Given the description of an element on the screen output the (x, y) to click on. 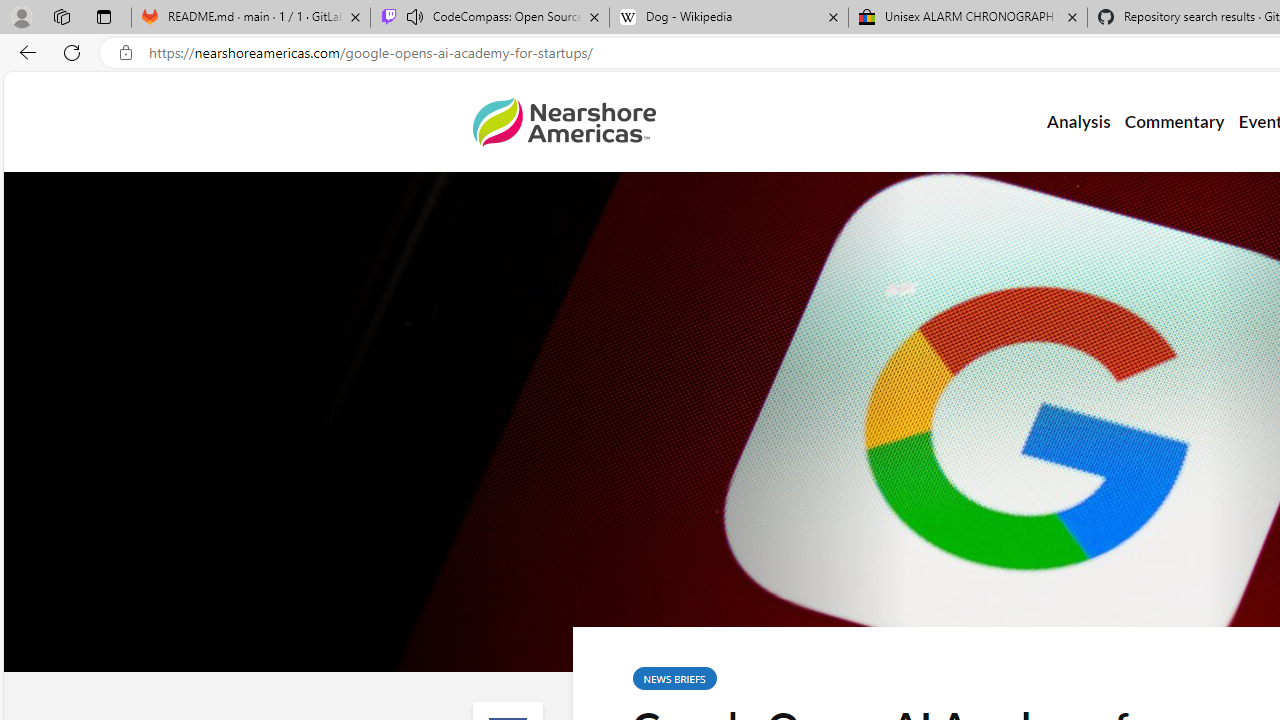
Commentary (1174, 121)
Nearshore Americas (563, 121)
Dog - Wikipedia (729, 17)
Refresh (72, 52)
